Given the description of an element on the screen output the (x, y) to click on. 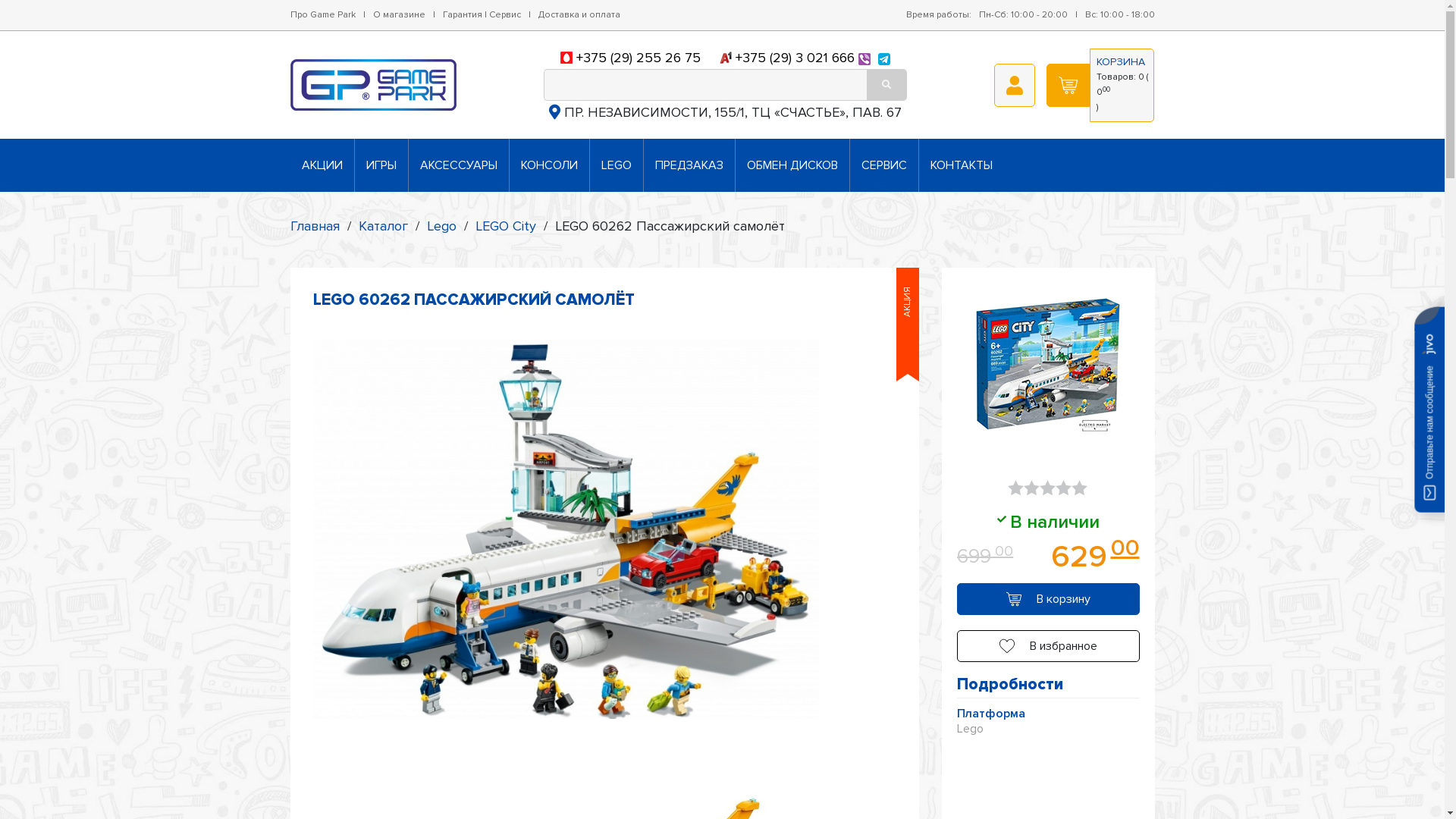
+375 (29) 3 021 666 Element type: text (794, 57)
LEGO City Element type: text (504, 225)
Lego Element type: text (440, 225)
+375 (29) 255 26 75 Element type: text (638, 57)
LEGO Element type: text (616, 164)
